Given the description of an element on the screen output the (x, y) to click on. 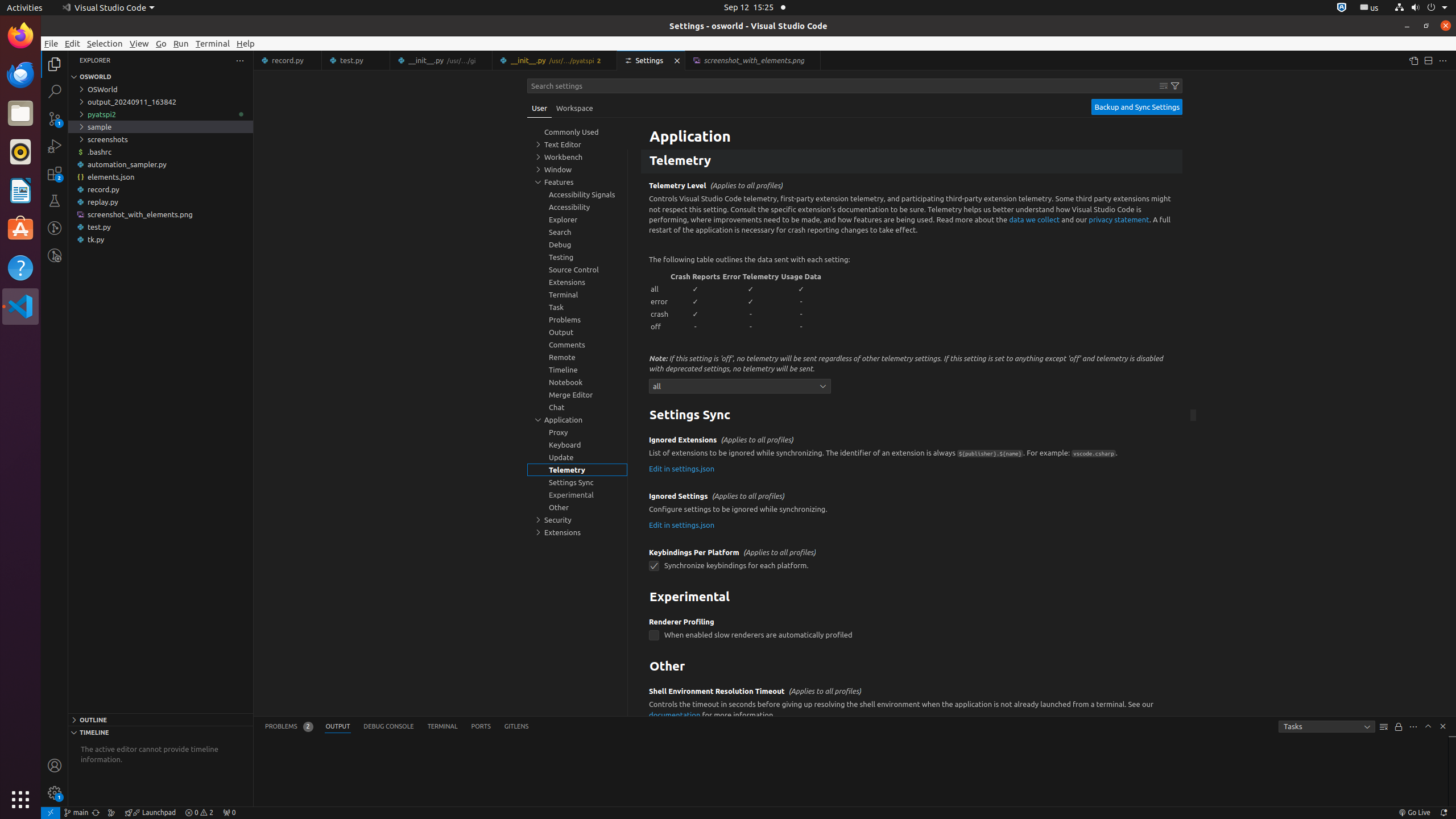
Testing Element type: page-tab (54, 200)
Settings Sync Element type: tree-item (911, 415)
documentation Element type: link (674, 714)
Remote, group Element type: tree-item (577, 356)
Ports Element type: page-tab (480, 726)
